Given the description of an element on the screen output the (x, y) to click on. 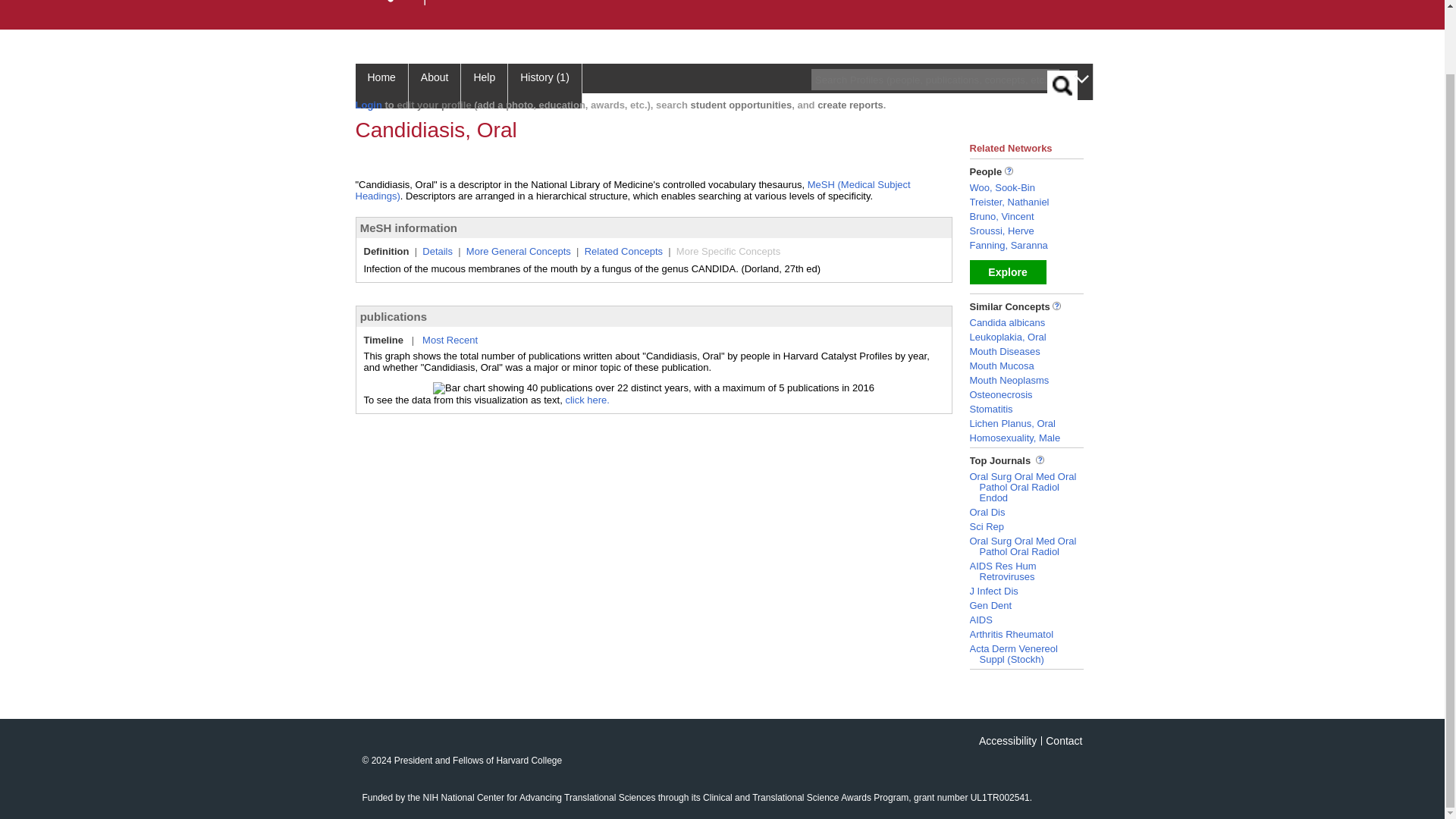
Home (381, 85)
Login (368, 104)
MeSH information (408, 227)
Details (437, 251)
Related Concepts (623, 251)
More Specific Concepts (728, 251)
More General Concepts (517, 251)
Contact (1063, 740)
Definition (386, 251)
Accessibility (1007, 740)
Help (484, 85)
About (435, 85)
View Harvard Catalyst Homepage (451, 4)
